Given the description of an element on the screen output the (x, y) to click on. 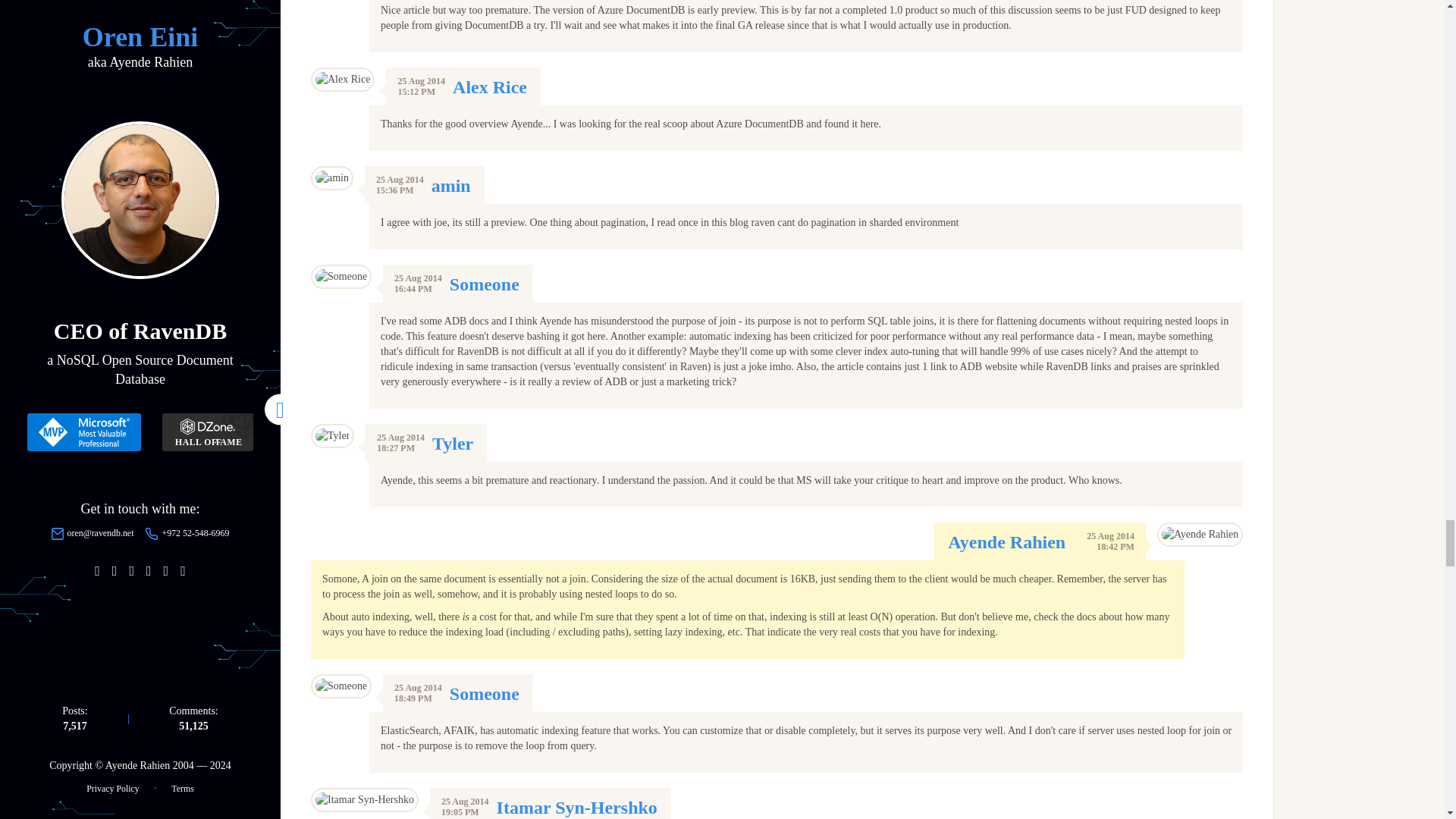
Comment by Tyler (452, 443)
Comment by amin (450, 185)
Comment by Alex Rice (489, 86)
Comment by Someone (484, 284)
